Given the description of an element on the screen output the (x, y) to click on. 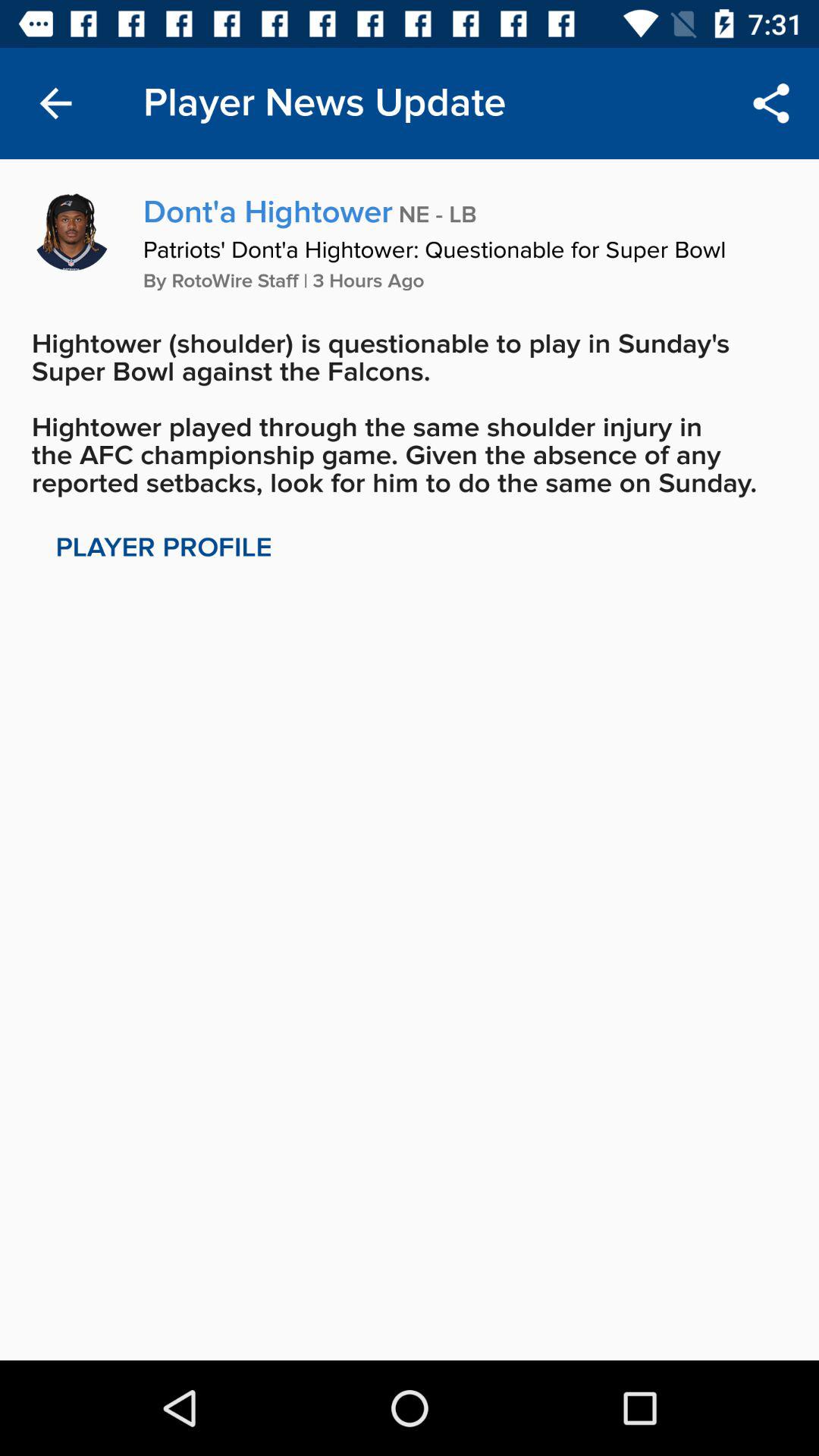
choose the item above player profile icon (409, 413)
